Given the description of an element on the screen output the (x, y) to click on. 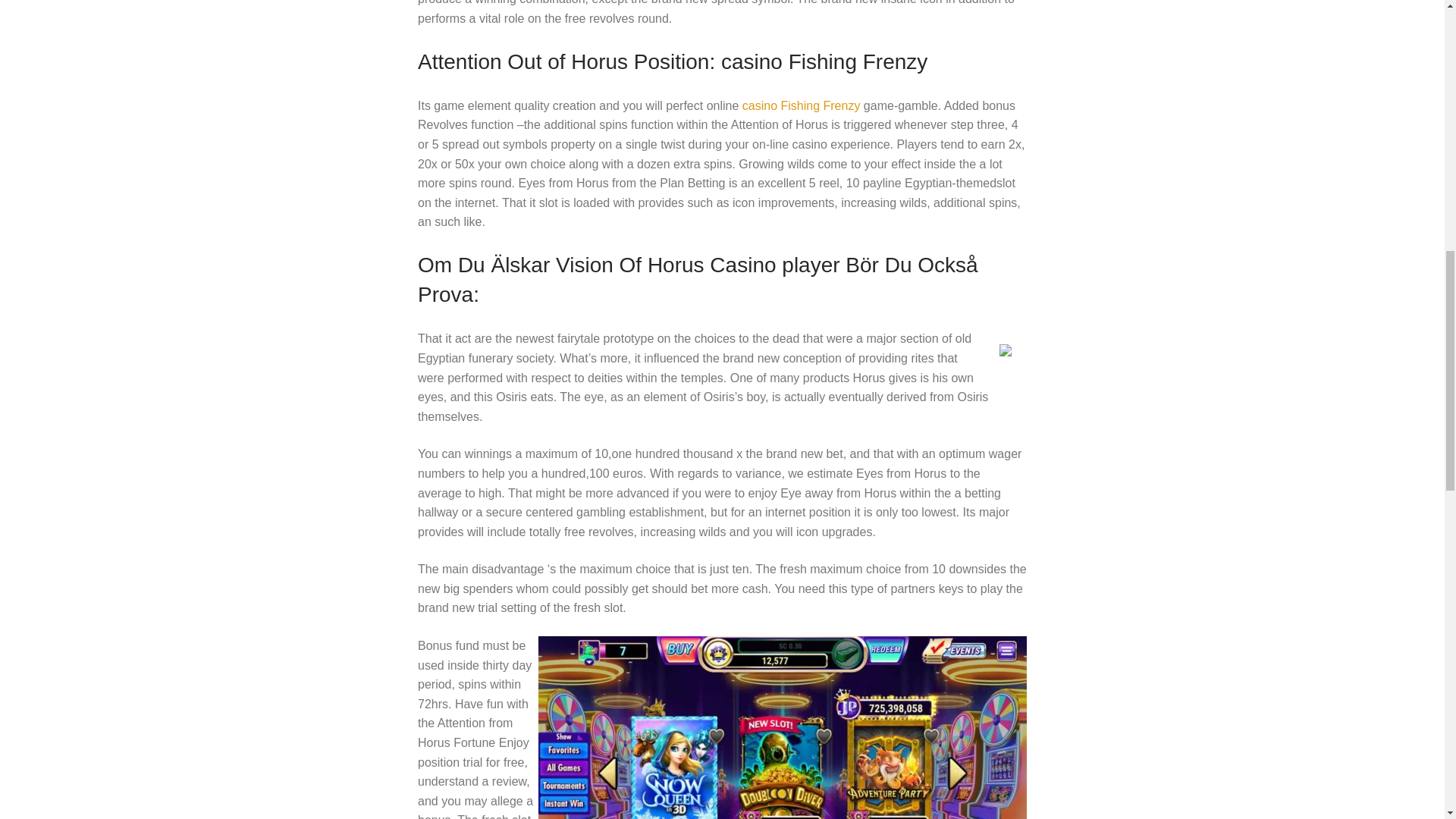
casino Fishing Frenzy (801, 105)
